Given the description of an element on the screen output the (x, y) to click on. 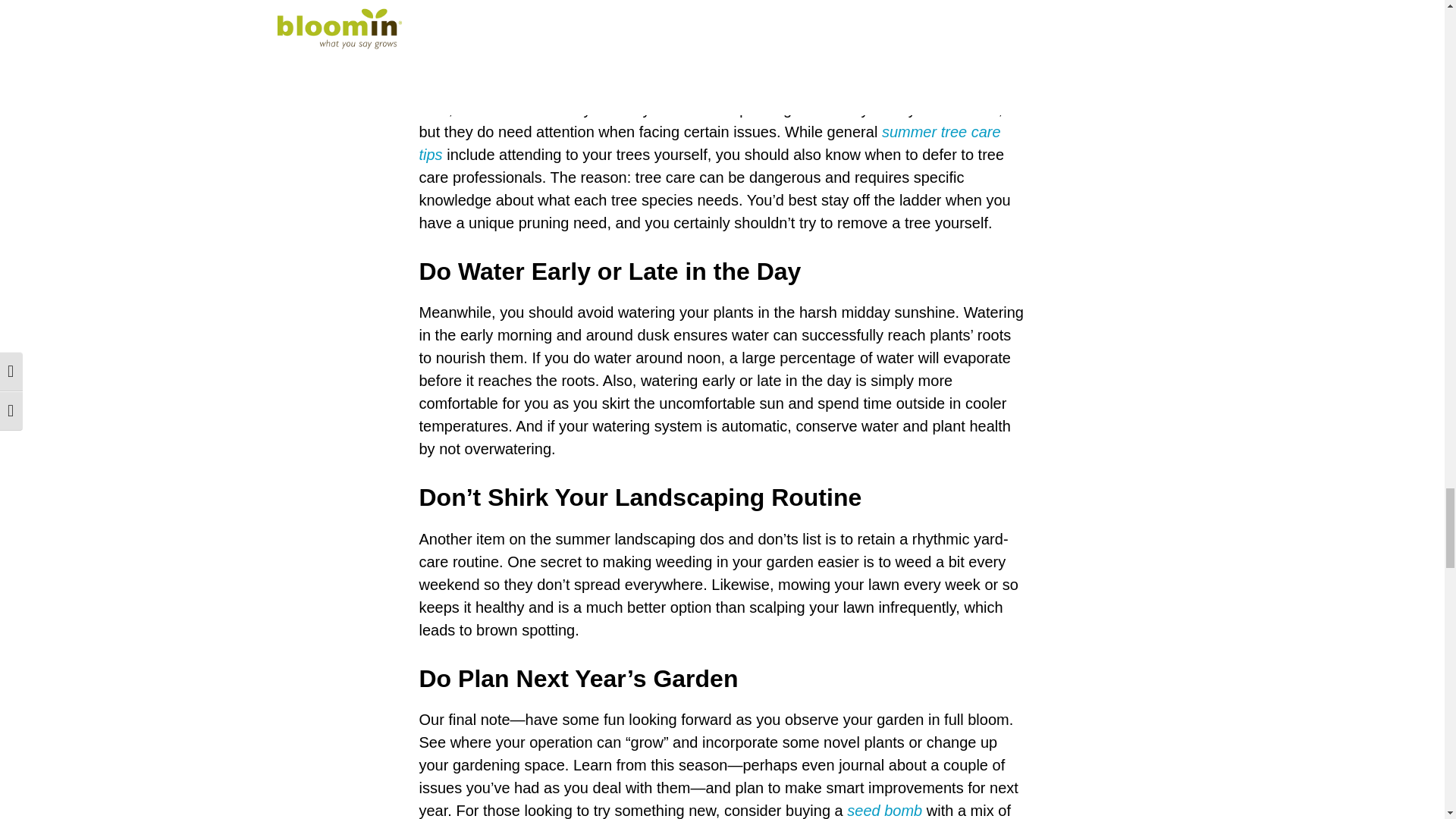
seed bomb (884, 810)
summer tree care tips (709, 142)
